Given the description of an element on the screen output the (x, y) to click on. 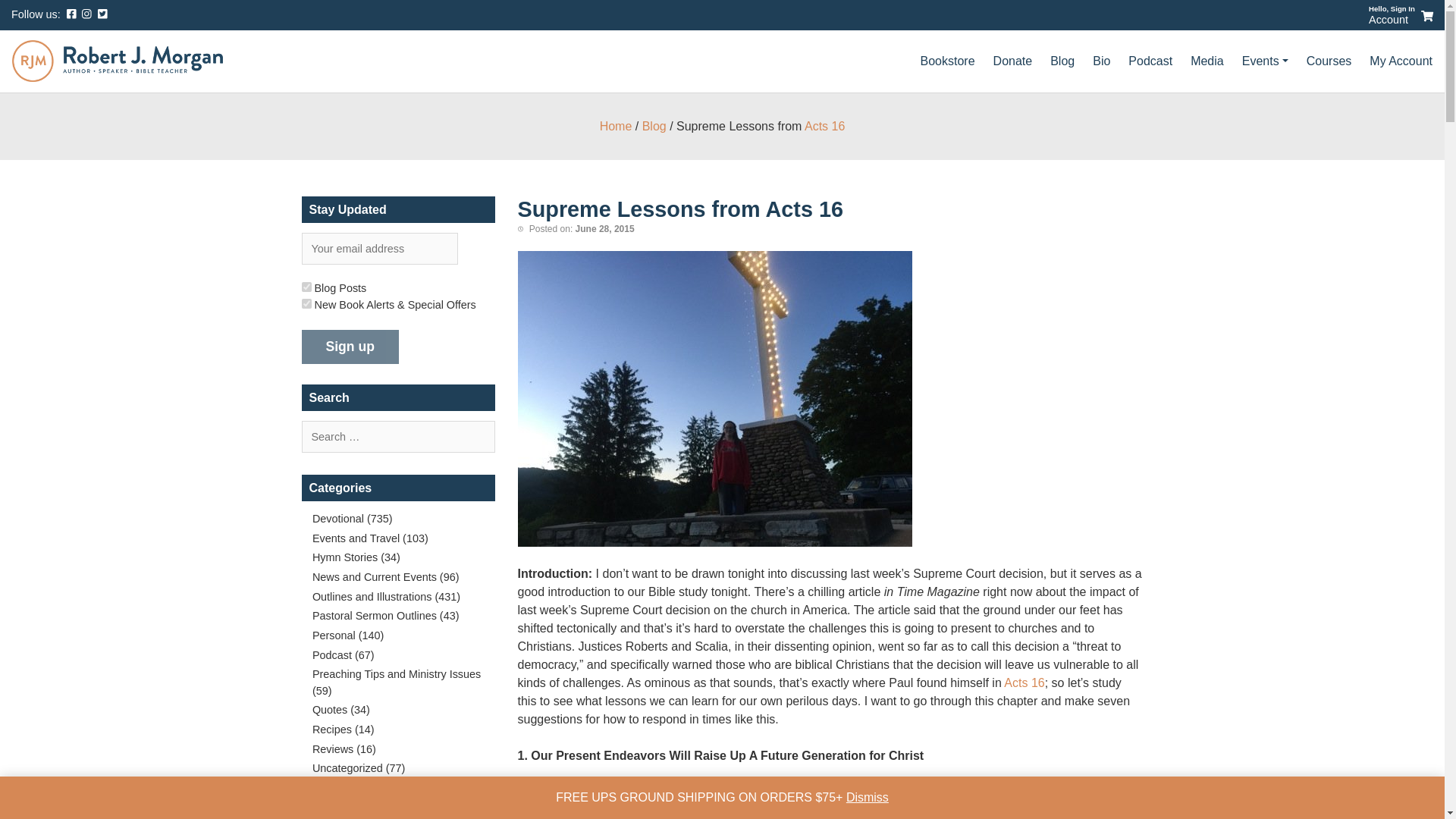
Sign up (349, 346)
Sign In (1402, 8)
Acts 16 (824, 125)
Donate (1013, 61)
Donate (1013, 61)
Courses (1329, 61)
4 (306, 286)
Home (615, 125)
Bookstore (947, 61)
Sign up (349, 346)
Blog (654, 125)
Podcast (1149, 61)
Search (46, 17)
Events (1265, 61)
Acts 16 (1023, 682)
